Given the description of an element on the screen output the (x, y) to click on. 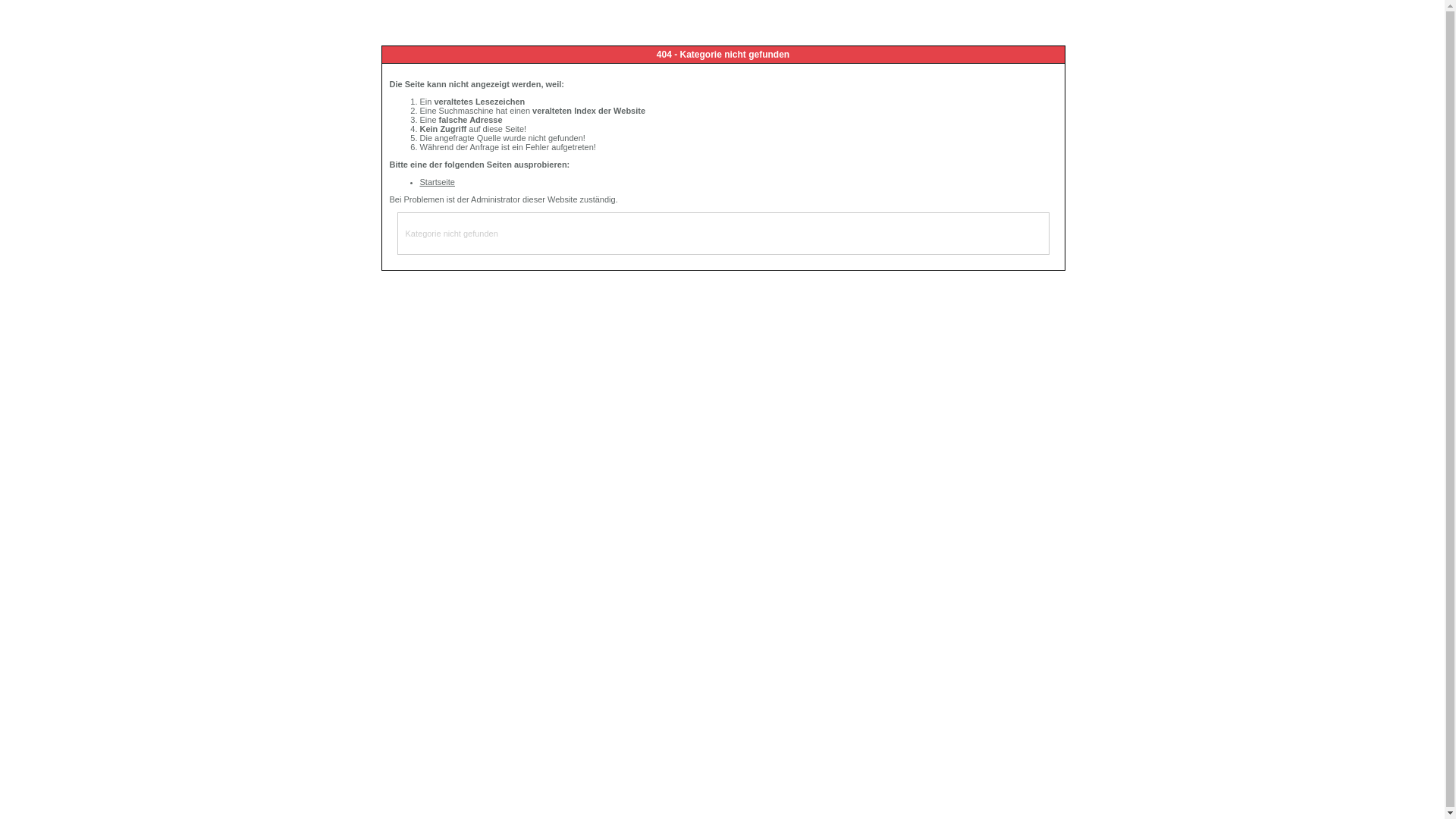
Startseite Element type: text (437, 181)
